Given the description of an element on the screen output the (x, y) to click on. 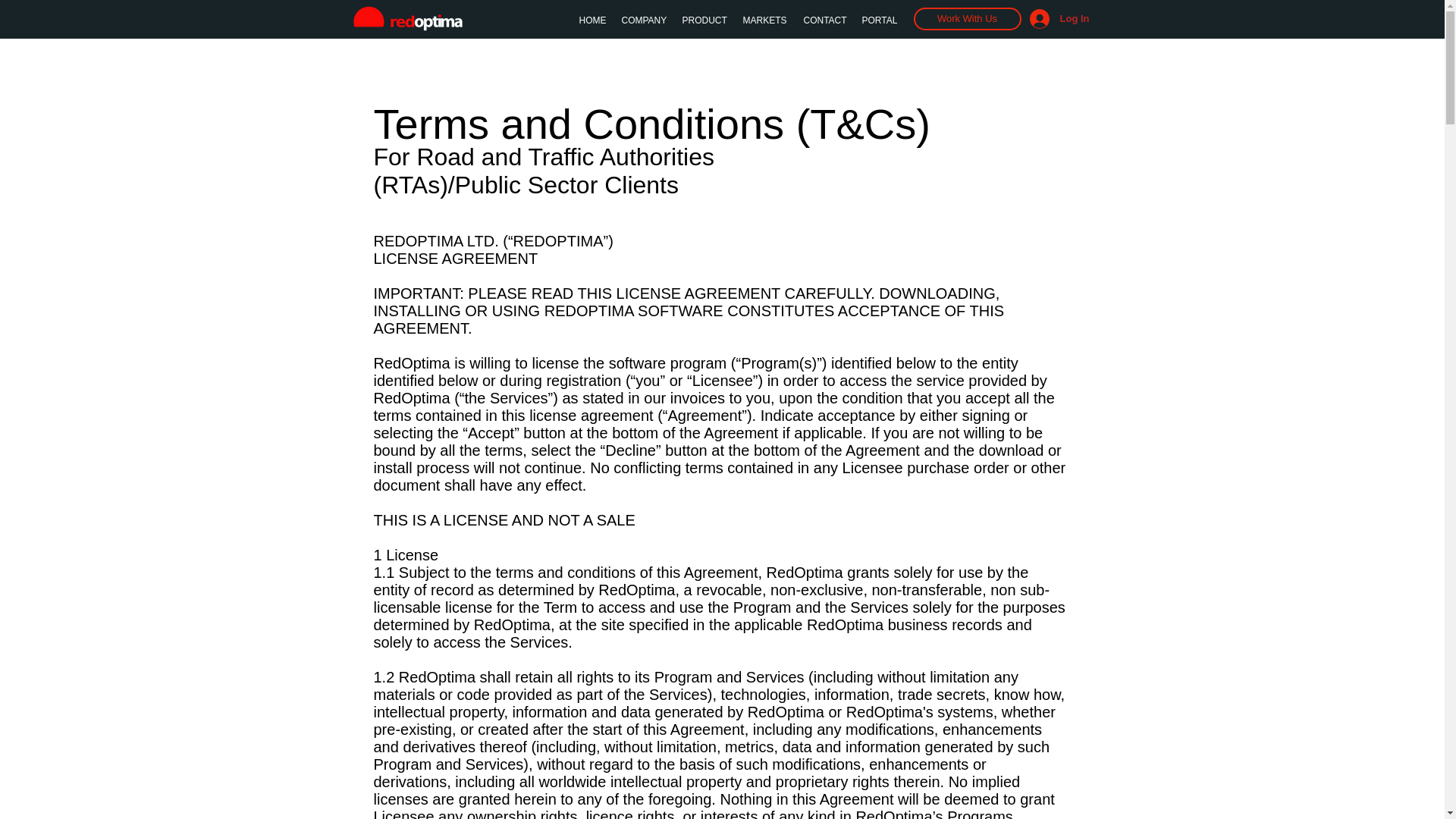
Log In (1059, 18)
MARKETS (765, 20)
Work With Us (966, 18)
PRODUCT (705, 20)
HOME (593, 20)
COMPANY (644, 20)
PORTAL (878, 20)
CONTACT (825, 20)
